Given the description of an element on the screen output the (x, y) to click on. 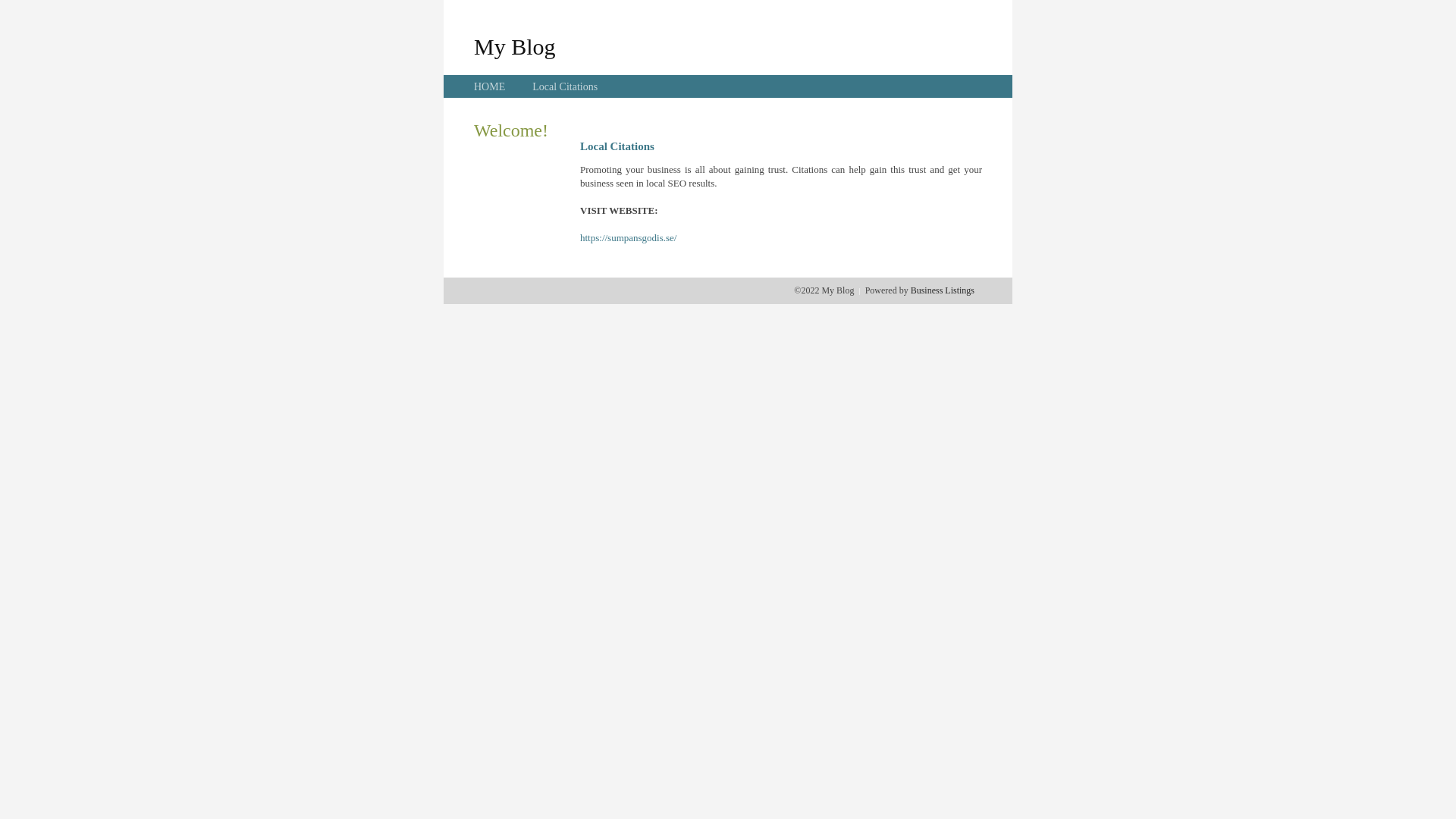
HOME Element type: text (489, 86)
https://sumpansgodis.se/ Element type: text (628, 237)
Business Listings Element type: text (942, 290)
Local Citations Element type: text (564, 86)
My Blog Element type: text (514, 46)
